Given the description of an element on the screen output the (x, y) to click on. 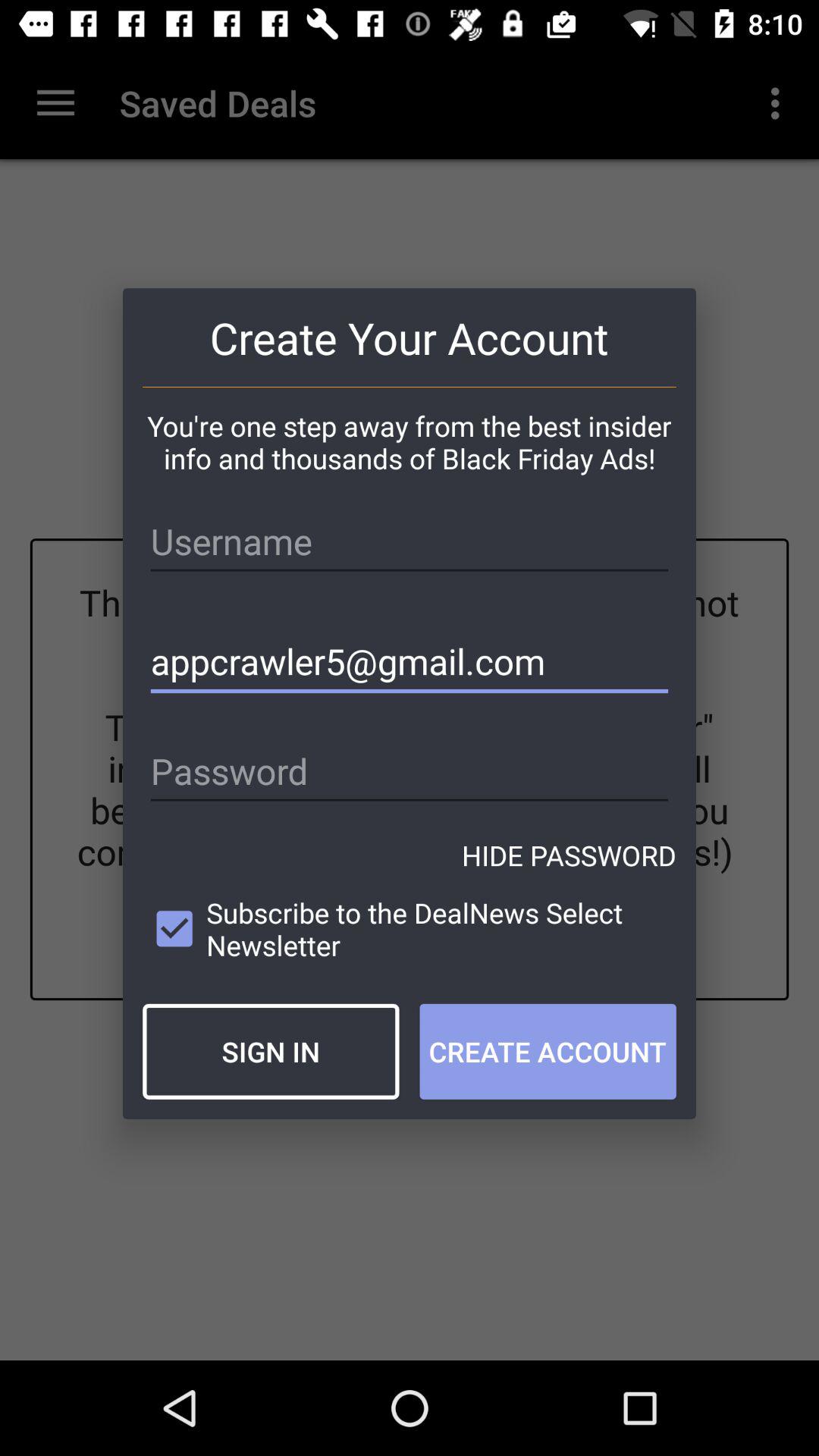
launch appcrawler5@gmail.com icon (409, 661)
